Given the description of an element on the screen output the (x, y) to click on. 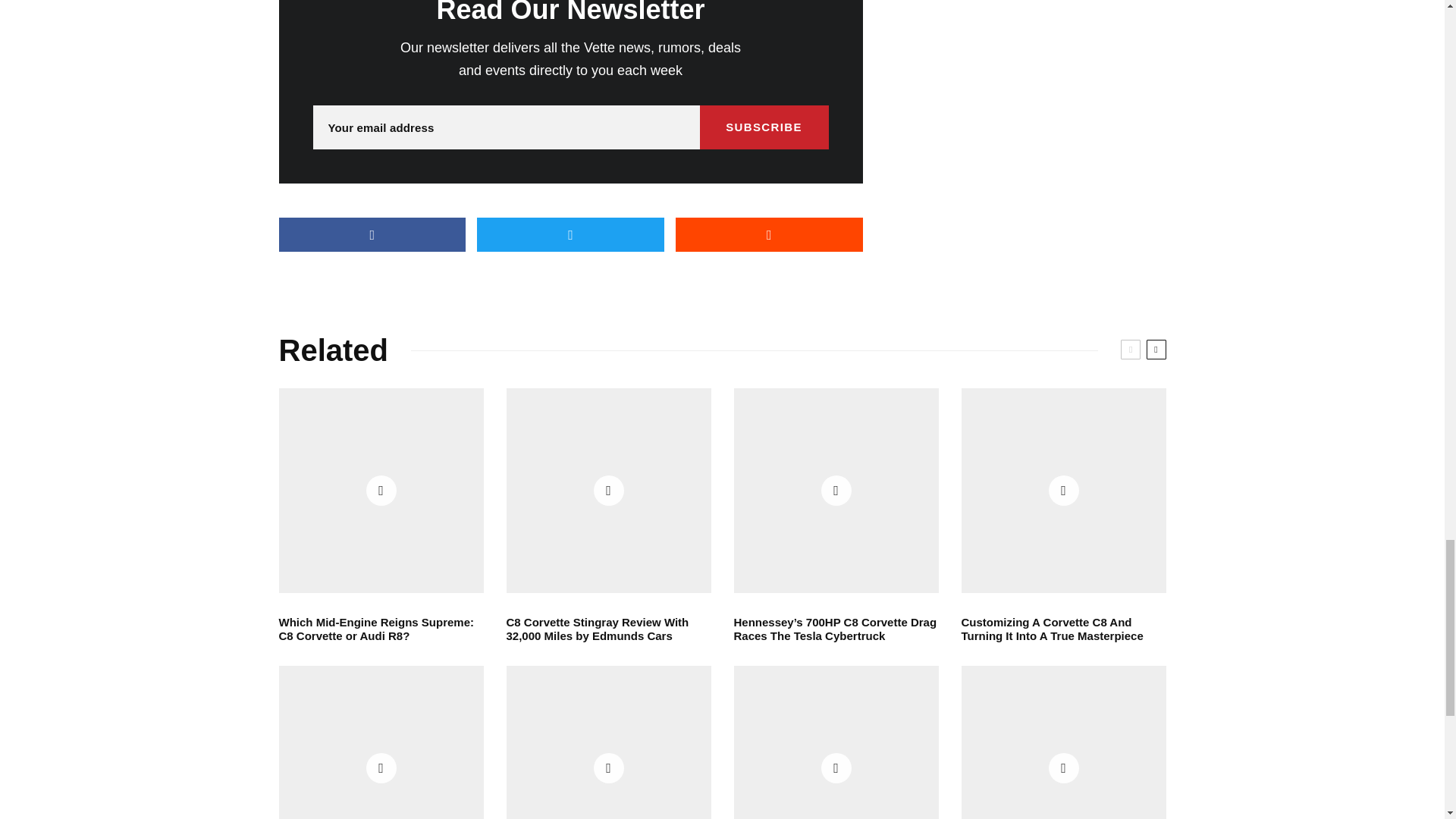
2020-Chevrolet-C8-Corvette (608, 490)
maxresdefault (836, 490)
C8-Corvette-vs-Audi-R8 (381, 490)
